Given the description of an element on the screen output the (x, y) to click on. 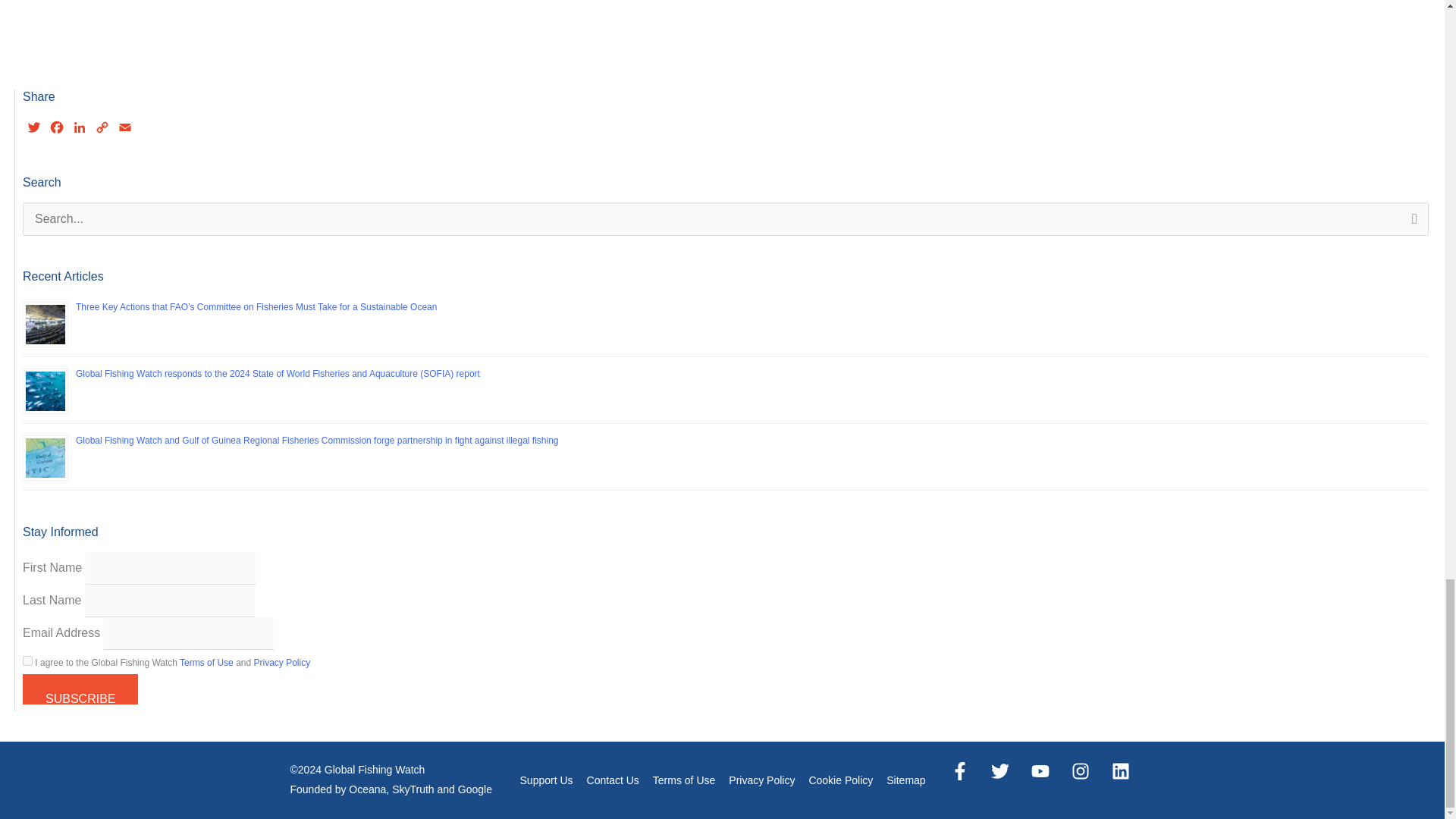
1 (27, 660)
Subscribe (80, 689)
